Given the description of an element on the screen output the (x, y) to click on. 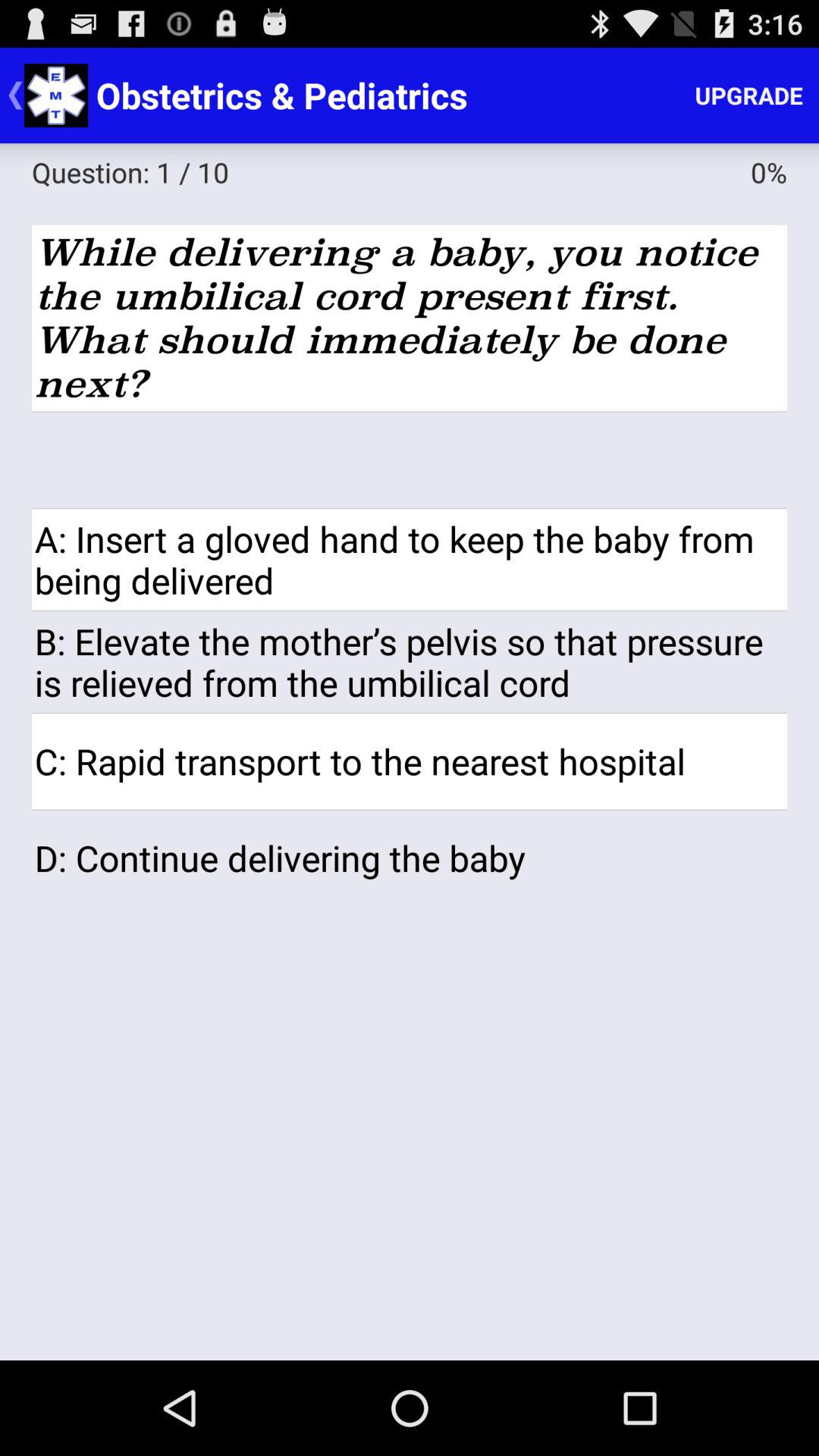
swipe until the c rapid transport app (409, 761)
